Given the description of an element on the screen output the (x, y) to click on. 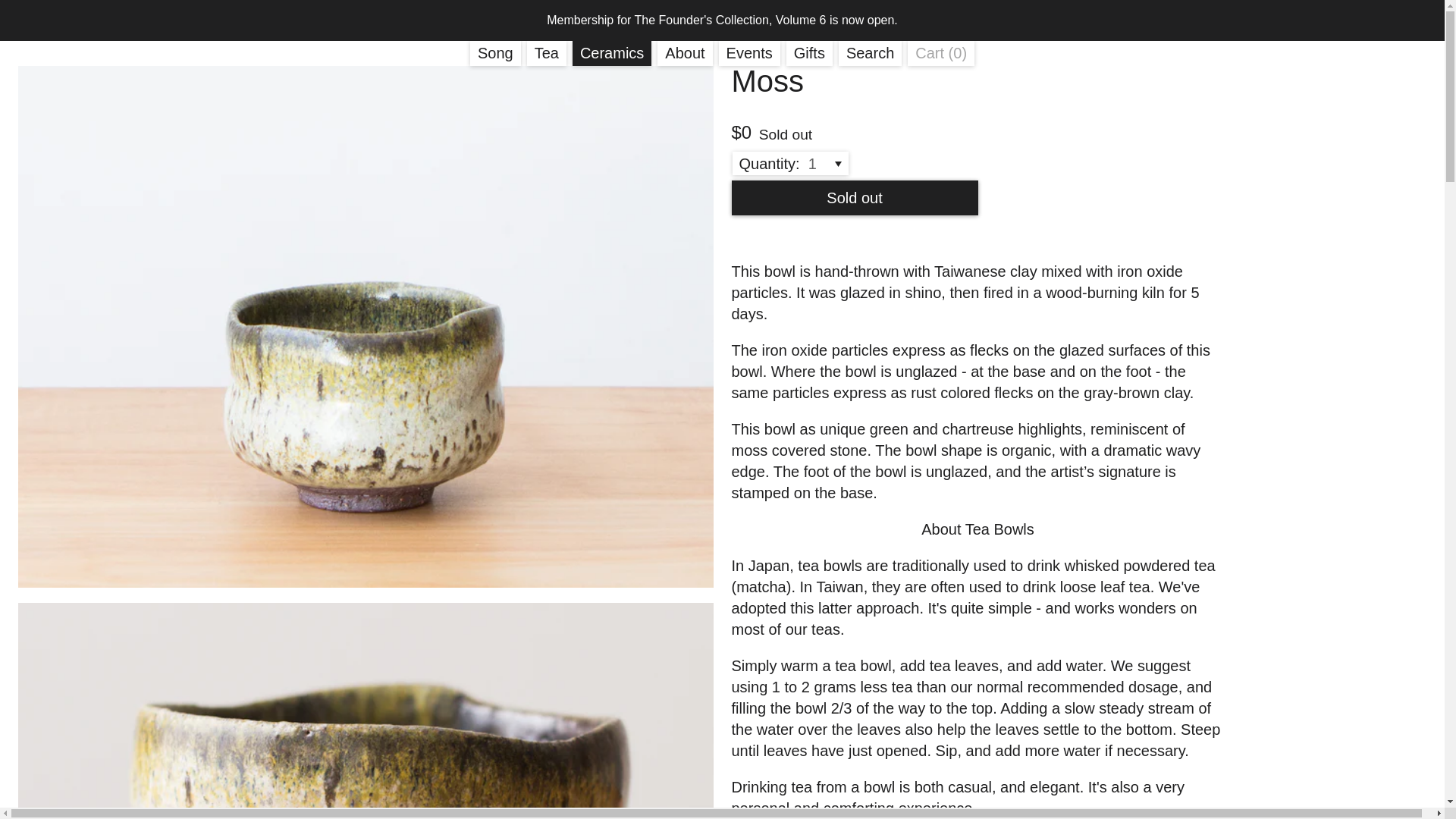
Skip to product information (34, 70)
Skip to content (16, 5)
Sold out (853, 197)
About (684, 53)
Ceramics (611, 53)
Song (495, 53)
Events (749, 53)
Gifts (940, 53)
